Given the description of an element on the screen output the (x, y) to click on. 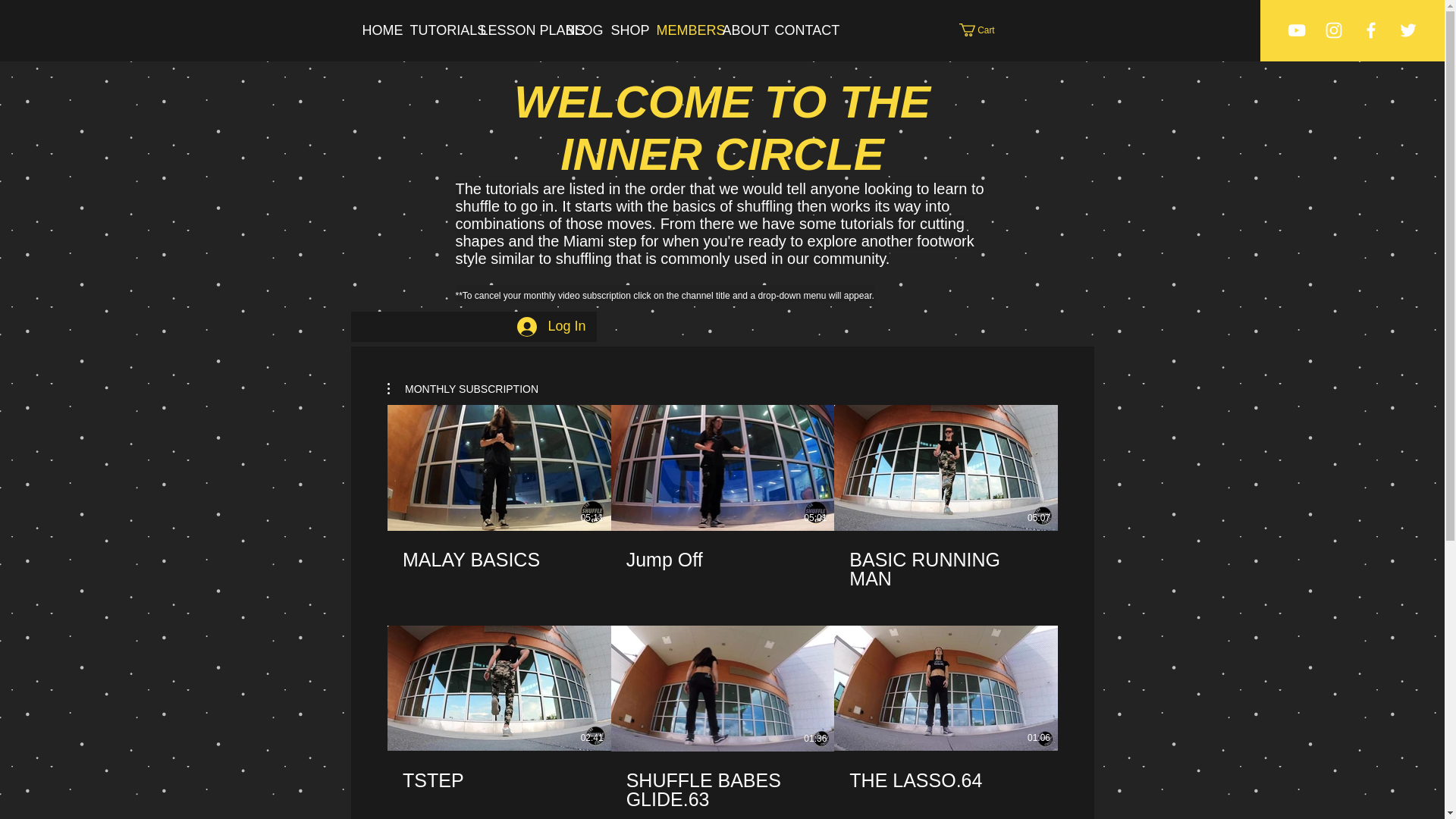
ABOUT (736, 30)
BLOG (575, 30)
Log In (550, 326)
MEMBERS (677, 30)
THE LASSO.64 (945, 780)
HOME (373, 30)
MALAY BASICS (498, 559)
SHUFFLE BABES GLIDE.63 (722, 780)
MALAY BASICS (498, 550)
BASIC RUNNING MAN (946, 560)
